Given the description of an element on the screen output the (x, y) to click on. 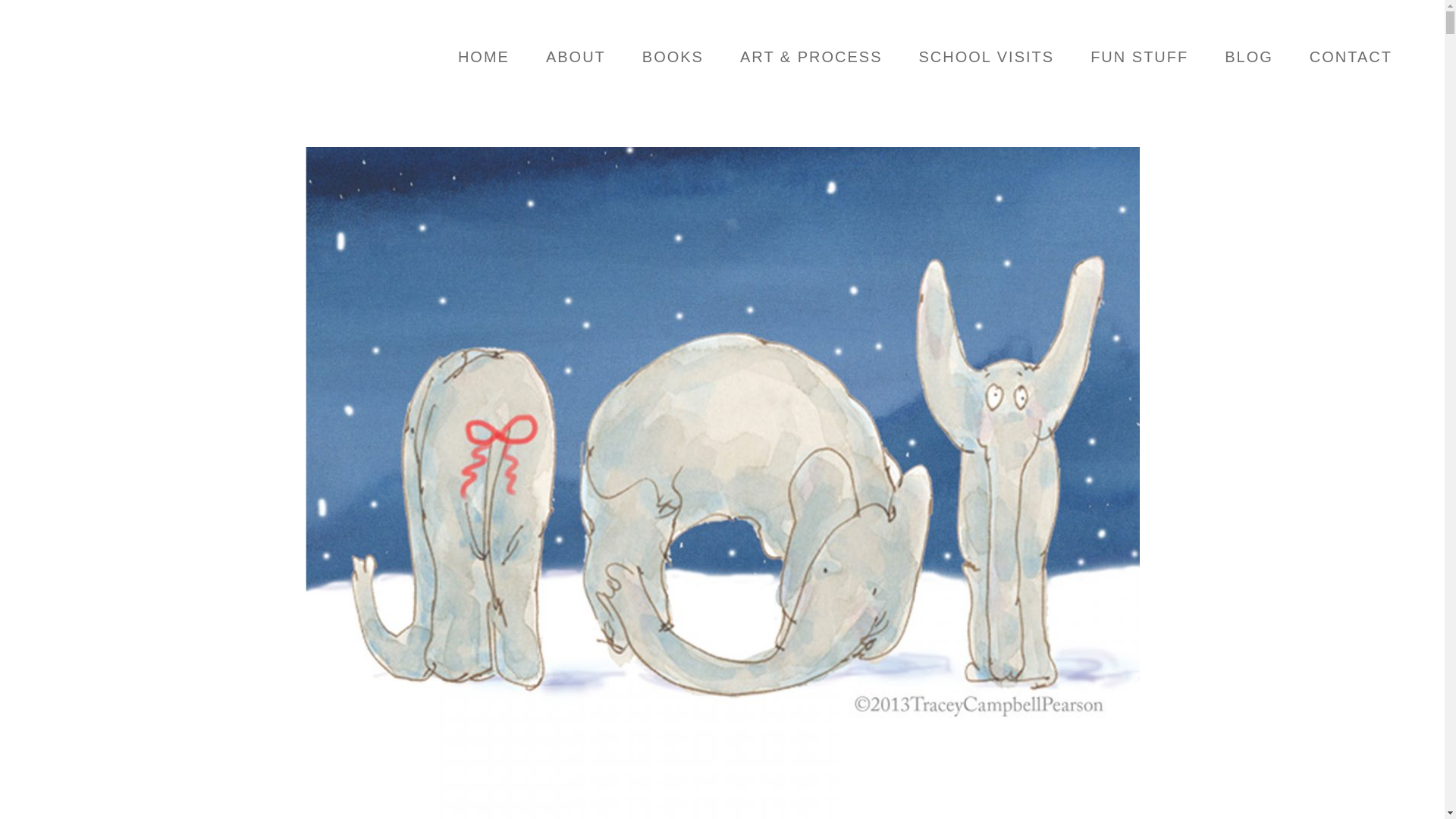
SCHOOL VISITS (987, 56)
CONTACT (1350, 56)
FUN STUFF (1139, 56)
